Given the description of an element on the screen output the (x, y) to click on. 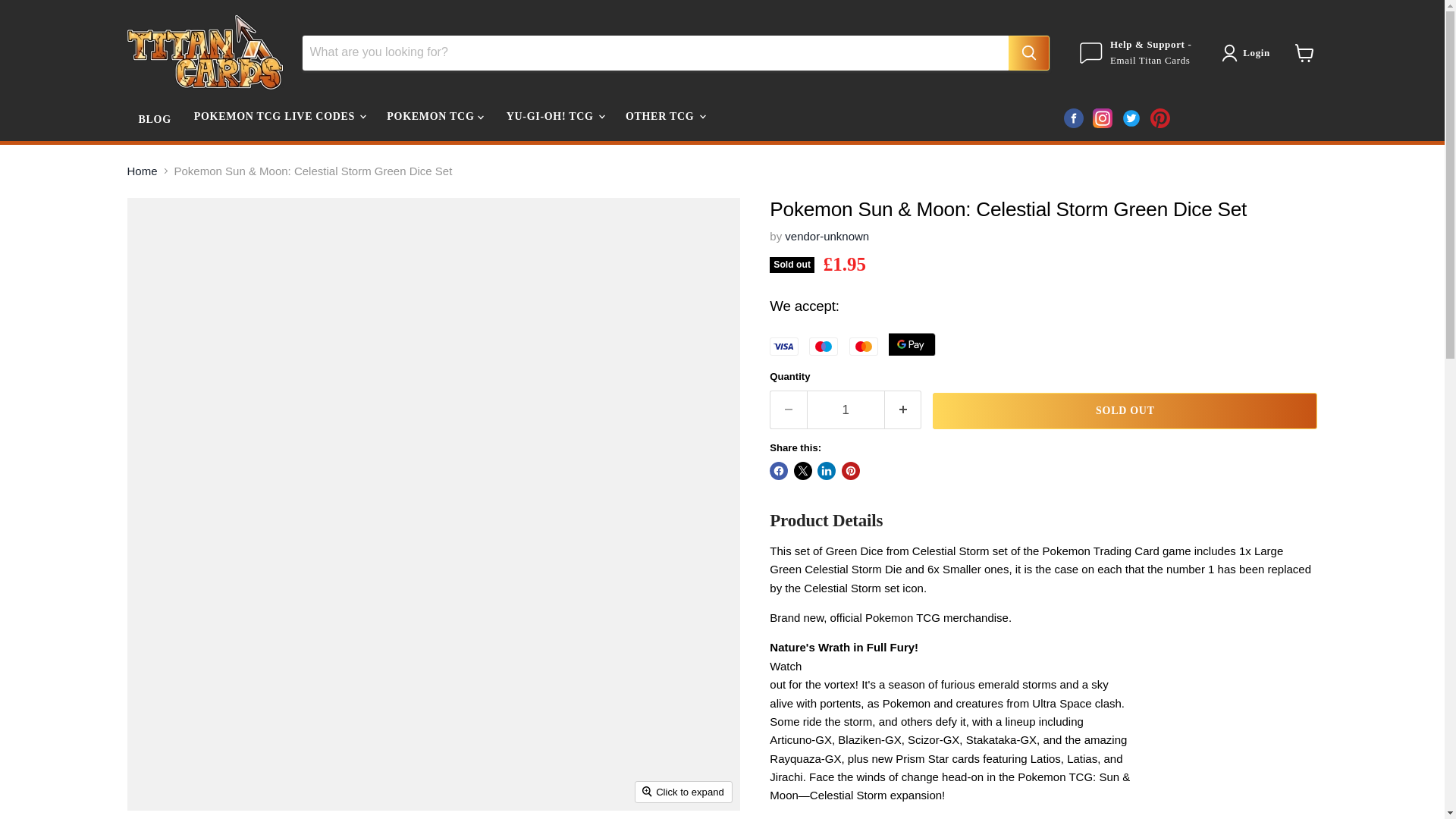
Login (1248, 53)
1 (845, 409)
BLOG (155, 119)
View cart (1304, 52)
Pinterest-color Created with Sketch. (1159, 117)
vendor-unknown (826, 236)
